Given the description of an element on the screen output the (x, y) to click on. 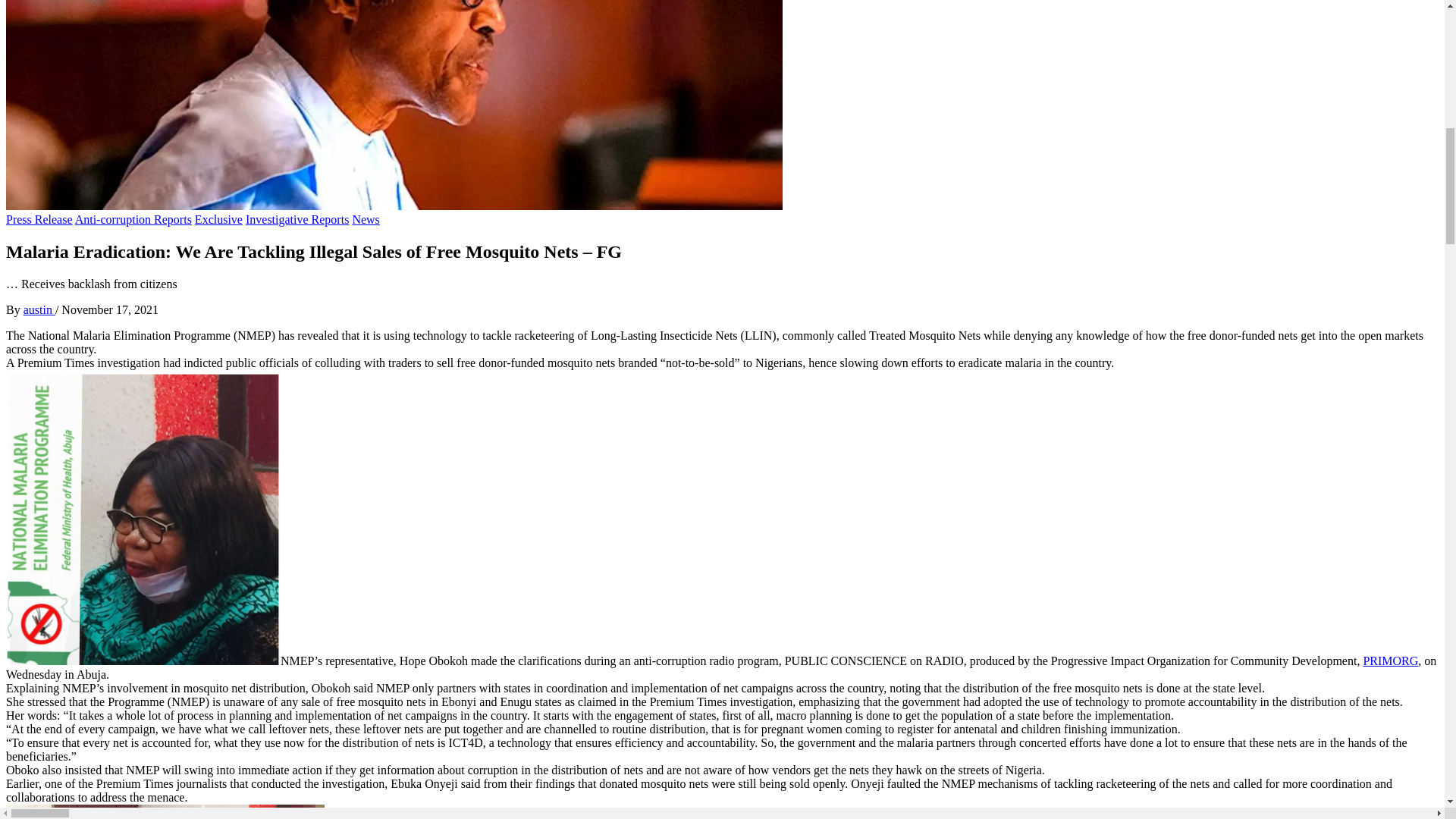
Anti-corruption Reports (133, 219)
Press Release (38, 219)
Exclusive (219, 219)
Investigative Reports (297, 219)
austin (39, 309)
News (365, 219)
